Given the description of an element on the screen output the (x, y) to click on. 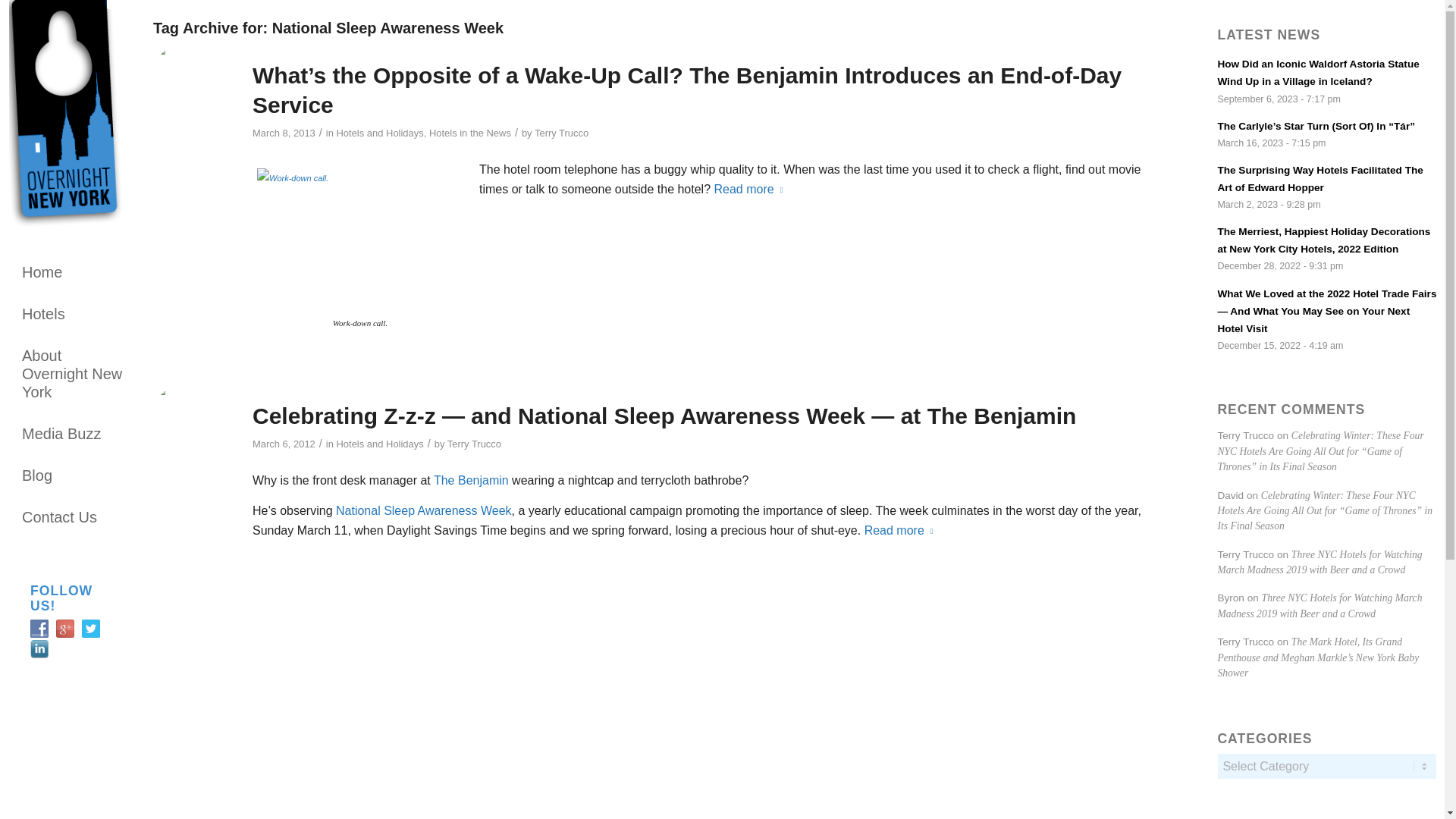
Terry Trucco (473, 443)
Read more (901, 530)
Contact Us (76, 516)
Hotels and Holidays (379, 443)
National Sleep Awareness Week (424, 510)
Follow Us on Facebook (39, 628)
Blog (76, 475)
